Given the description of an element on the screen output the (x, y) to click on. 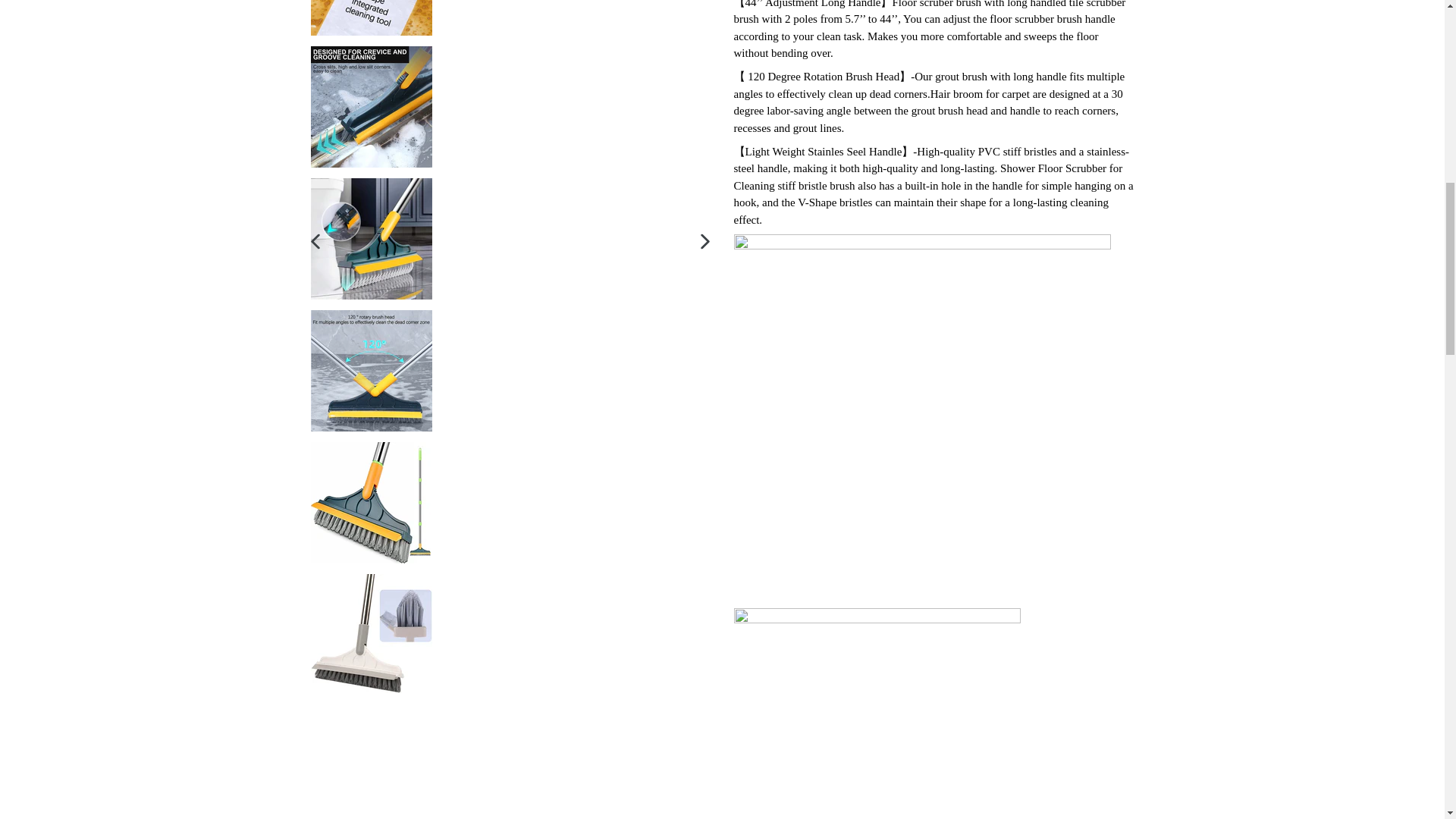
NEXT SLIDE (705, 241)
PREVIOUS SLIDE (315, 241)
